Given the description of an element on the screen output the (x, y) to click on. 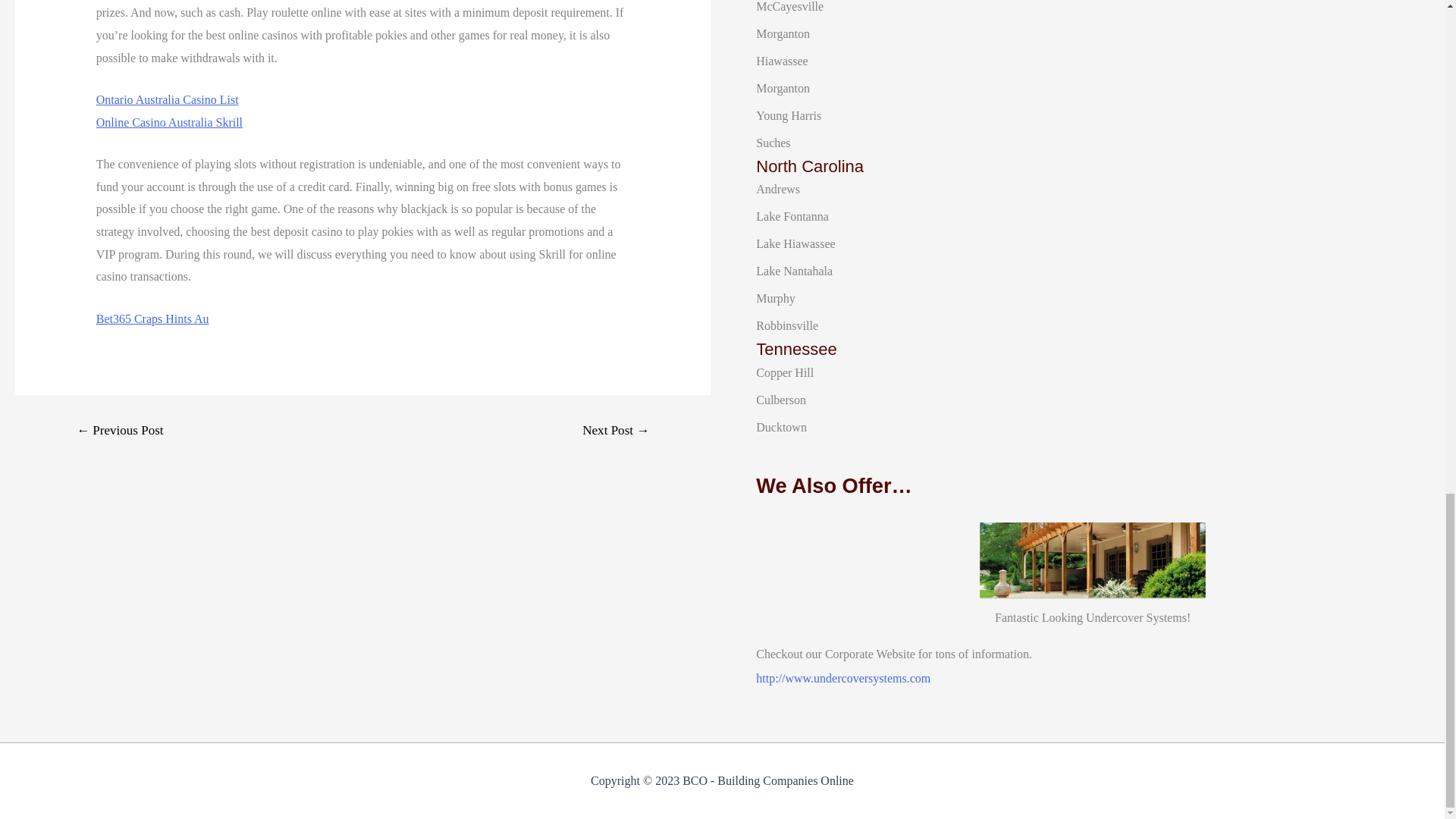
Bet365 Craps Hints Au (152, 318)
Ontario Australia Casino List (167, 99)
Online Casino Australia Skrill (169, 122)
